Given the description of an element on the screen output the (x, y) to click on. 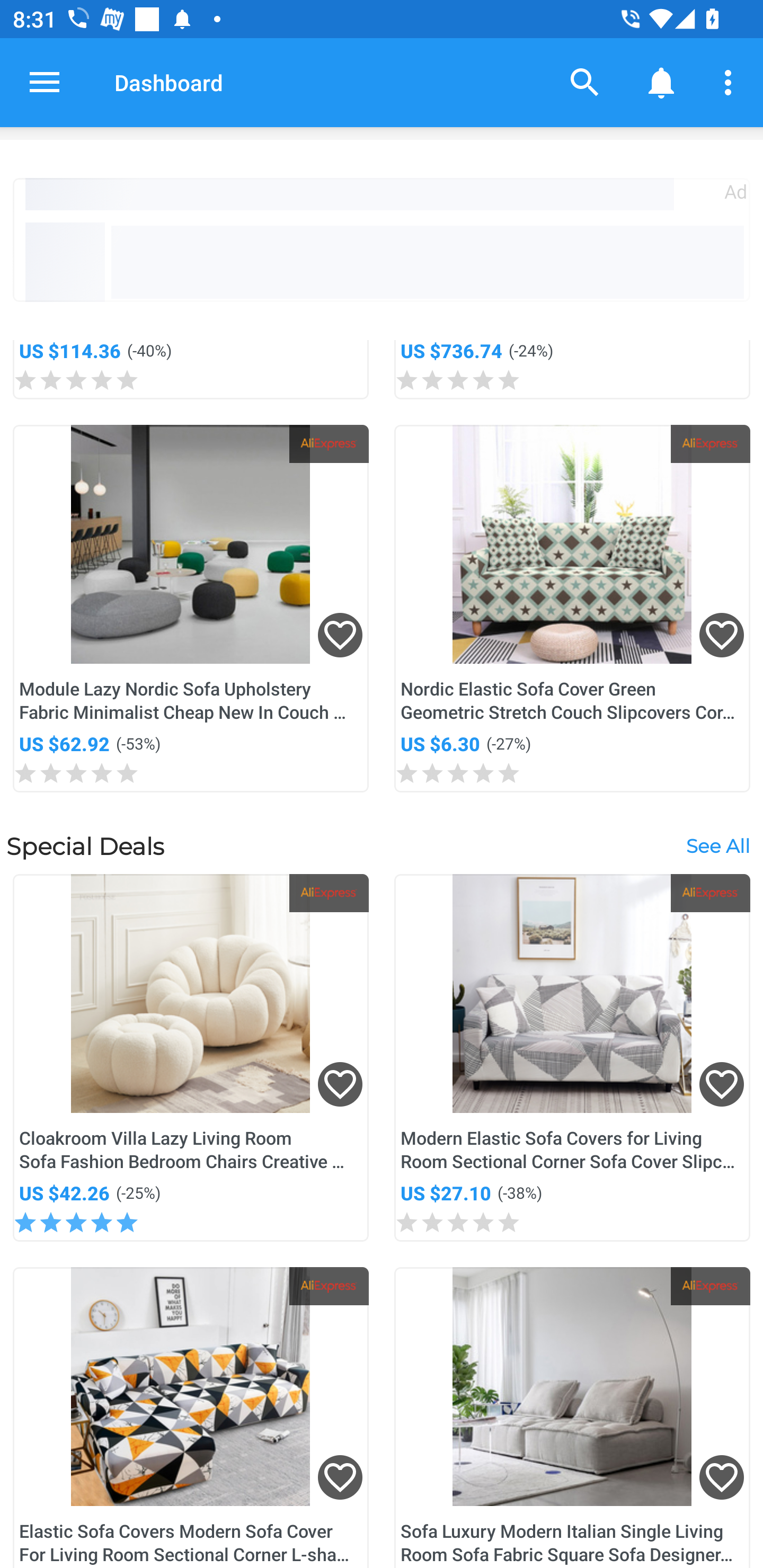
Open navigation drawer (44, 82)
Search (585, 81)
More options (731, 81)
US $114.36 (-40%) 0.0 (190, 369)
US $736.74 (-24%) 0.0 (572, 369)
See All (717, 844)
